Given the description of an element on the screen output the (x, y) to click on. 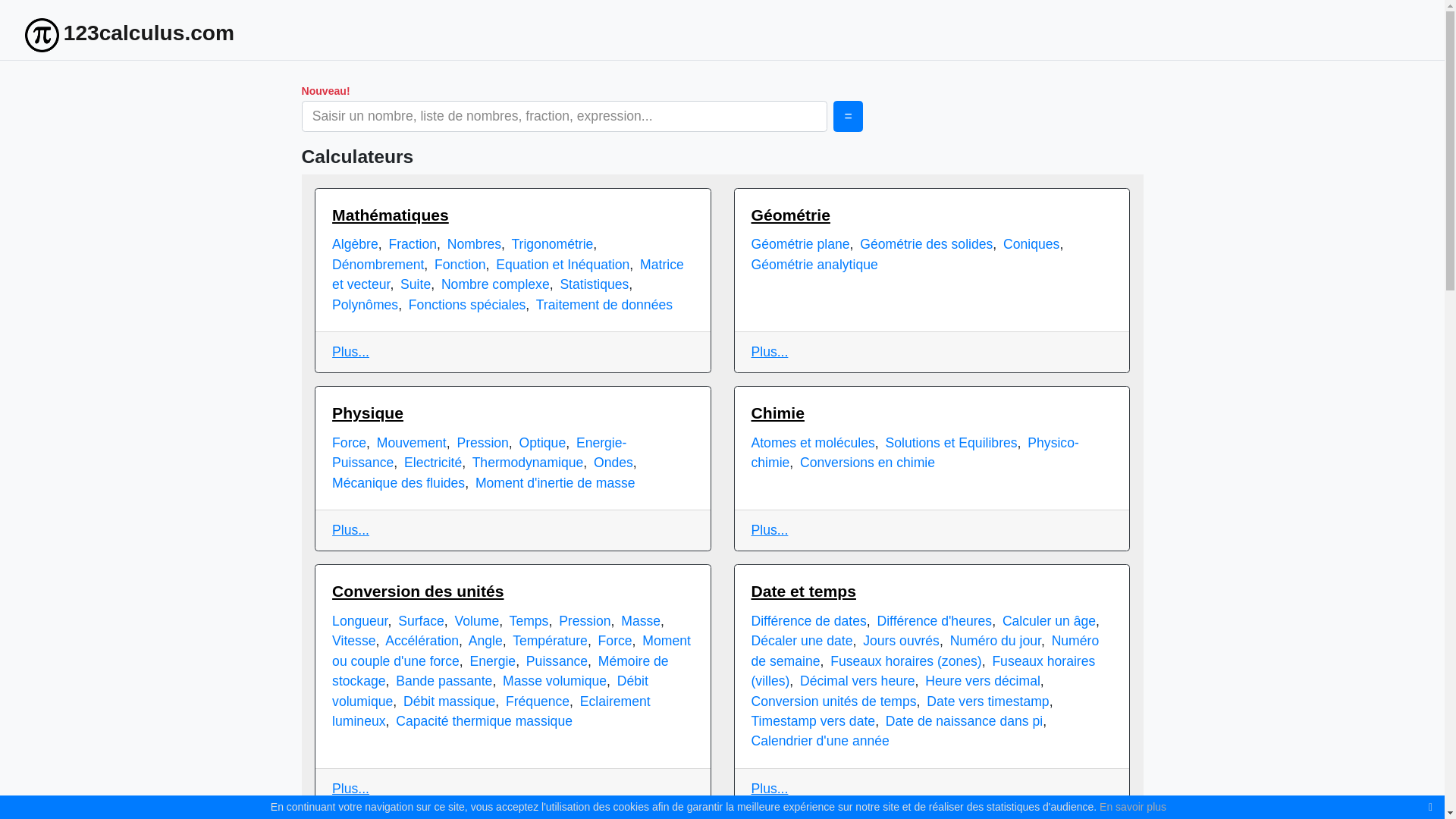
Volume Element type: text (477, 620)
Fuseaux horaires (villes) Element type: text (922, 670)
Date de naissance dans pi Element type: text (963, 720)
Plus... Element type: text (768, 788)
Timestamp vers date Element type: text (812, 720)
Vitesse Element type: text (353, 640)
Force Element type: text (349, 442)
Nombres Element type: text (474, 243)
Fraction Element type: text (412, 243)
Optique Element type: text (542, 442)
Mouvement Element type: text (411, 442)
Thermodynamique Element type: text (527, 462)
Pression Element type: text (584, 620)
Date et temps Element type: text (802, 590)
Pression Element type: text (482, 442)
Nombre complexe Element type: text (495, 283)
Force Element type: text (615, 640)
Physique Element type: text (367, 412)
Conversions en chimie Element type: text (867, 462)
= Element type: text (847, 116)
Date vers timestamp Element type: text (987, 701)
Masse volumique Element type: text (554, 680)
Plus... Element type: text (350, 351)
Energie-Puissance Element type: text (479, 452)
Surface Element type: text (421, 620)
Angle Element type: text (485, 640)
Bande passante Element type: text (443, 680)
En savoir plus Element type: text (1132, 806)
Fonction Element type: text (459, 264)
Suite Element type: text (415, 283)
Fuseaux horaires (zones) Element type: text (906, 660)
Solutions et Equilibres Element type: text (951, 442)
Plus... Element type: text (768, 351)
Moment ou couple d'une force Element type: text (511, 650)
Energie Element type: text (493, 660)
Eclairement lumineux Element type: text (491, 710)
Statistiques Element type: text (593, 283)
Plus... Element type: text (350, 529)
Masse Element type: text (640, 620)
Moment d'inertie de masse Element type: text (555, 482)
Physico-chimie Element type: text (914, 452)
123calculus.com Element type: text (129, 33)
Plus... Element type: text (350, 788)
Coniques Element type: text (1031, 243)
Ondes Element type: text (613, 462)
Puissance Element type: text (556, 660)
Plus... Element type: text (768, 529)
Longueur Element type: text (359, 620)
Chimie Element type: text (776, 412)
Temps Element type: text (529, 620)
Matrice et vecteur Element type: text (508, 274)
